Given the description of an element on the screen output the (x, y) to click on. 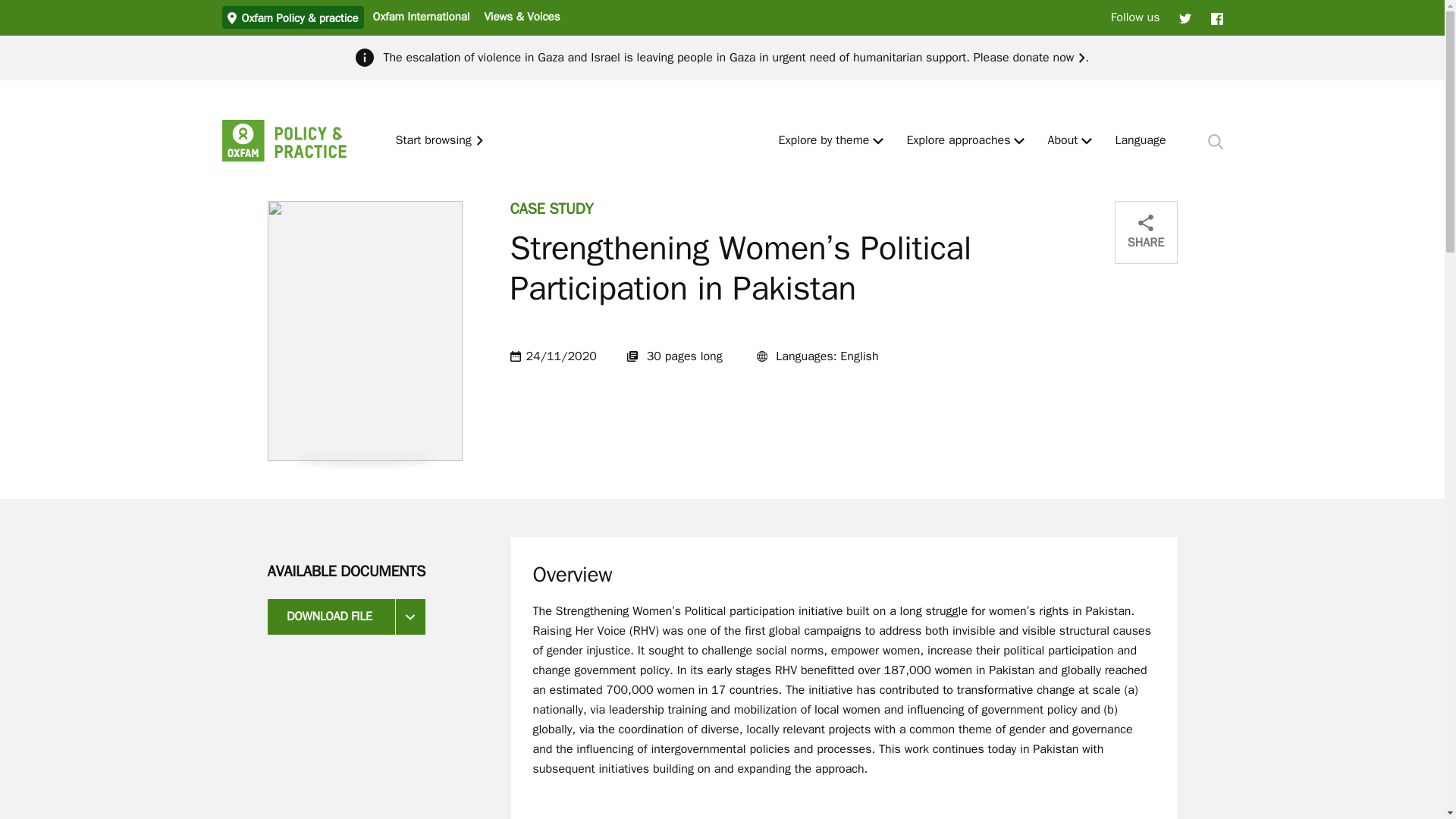
About (1061, 140)
Search (1215, 140)
Facebook (1216, 17)
Menu toggle (1019, 141)
Twitter (1184, 17)
Start browsing (439, 140)
donate now (1047, 57)
Explore by theme (823, 140)
Menu toggle (877, 141)
English (1140, 140)
